Given the description of an element on the screen output the (x, y) to click on. 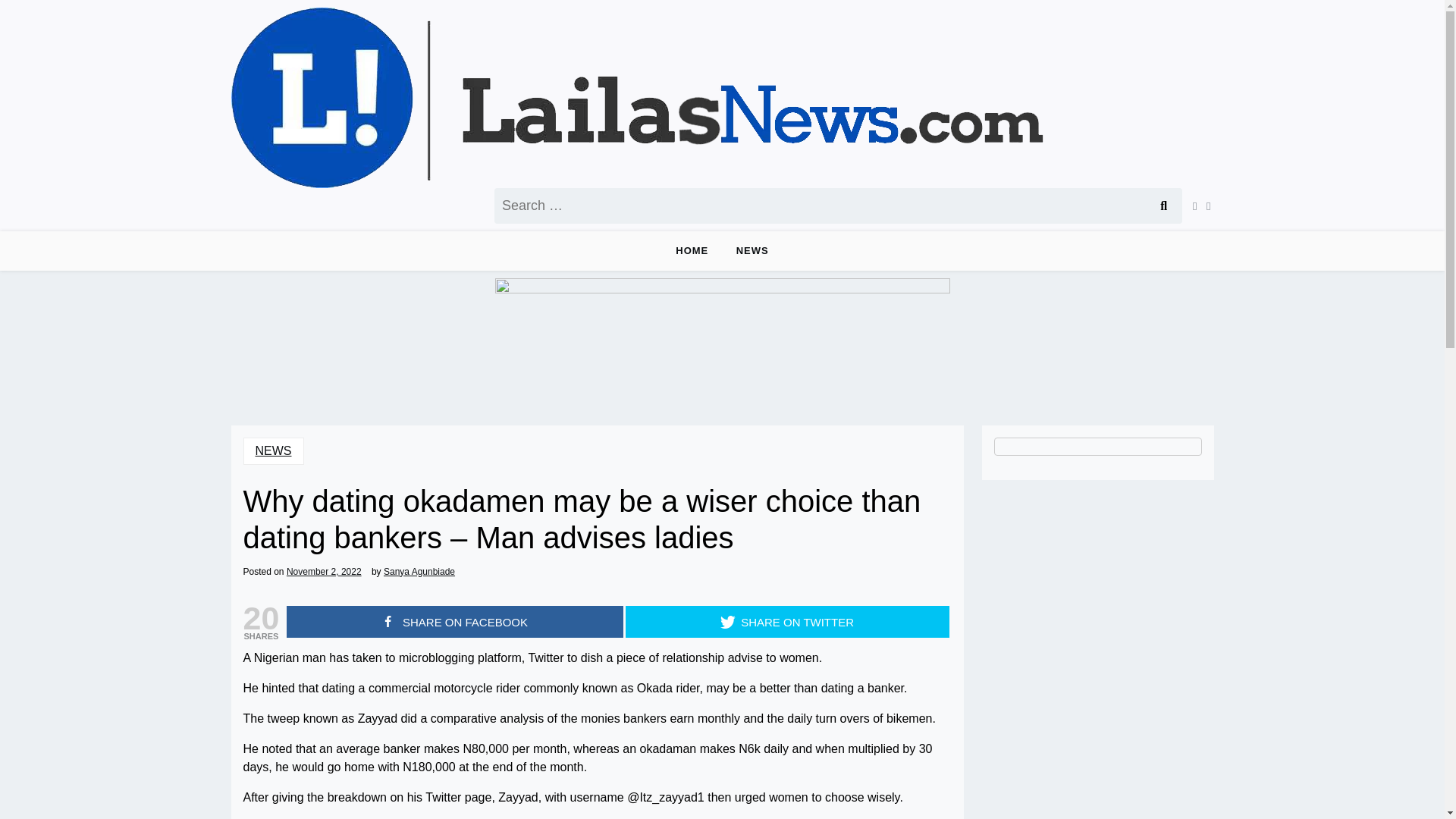
SHARE ON FACEBOOK (454, 621)
NEWS (272, 450)
NEWS (751, 250)
Search (1163, 205)
Search (1163, 205)
Search (1163, 205)
SHARE ON TWITTER (786, 621)
HOME (691, 250)
Sanya Agunbiade (419, 571)
November 2, 2022 (323, 571)
